Given the description of an element on the screen output the (x, y) to click on. 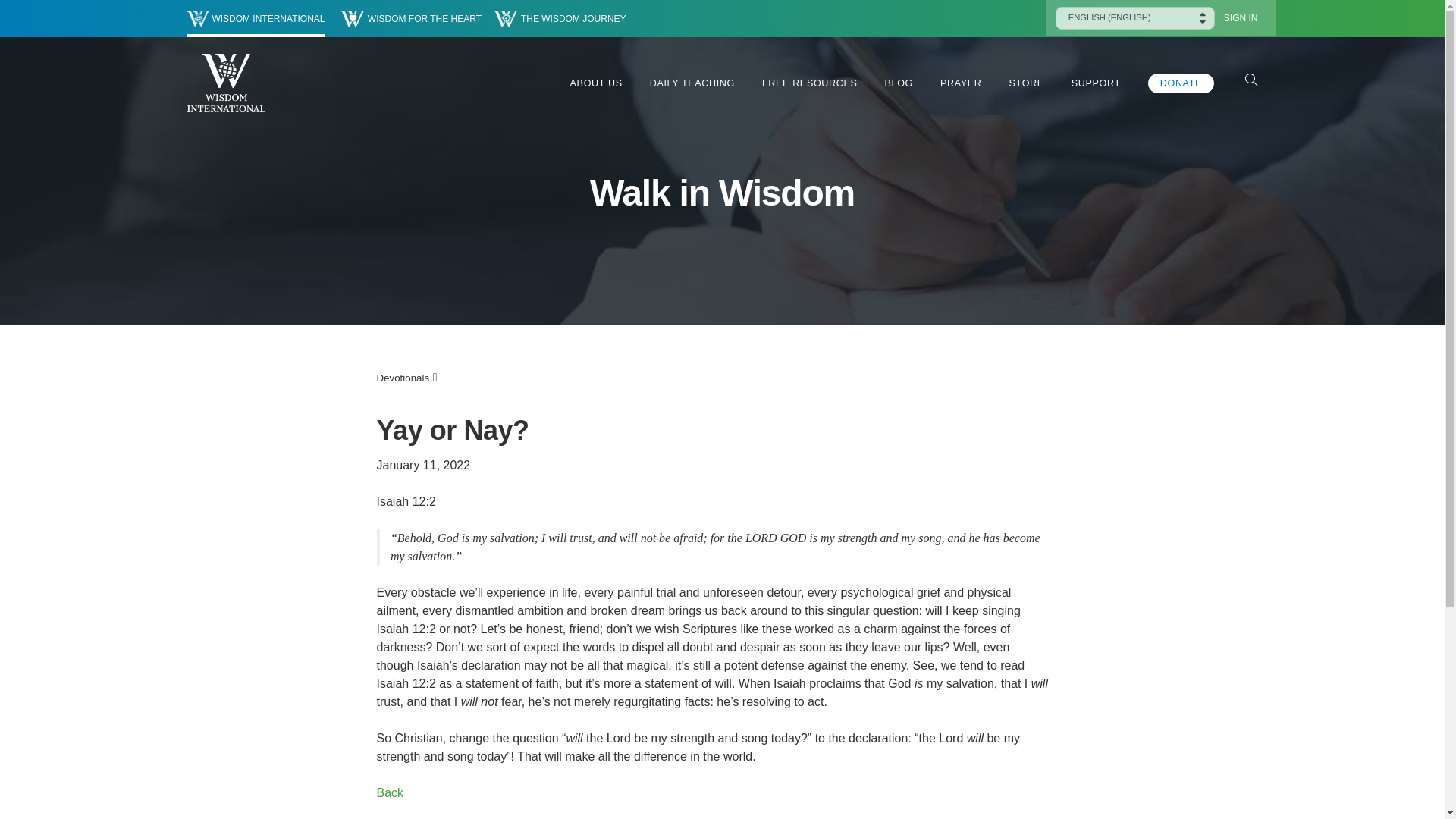
SIGN IN (1240, 18)
Sign In (1240, 18)
WISDOM FOR THE HEART (410, 18)
DAILY TEACHING (692, 83)
FREE RESOURCES (809, 83)
WISDOM INTERNATIONAL (255, 18)
THE WISDOM JOURNEY (559, 18)
